Given the description of an element on the screen output the (x, y) to click on. 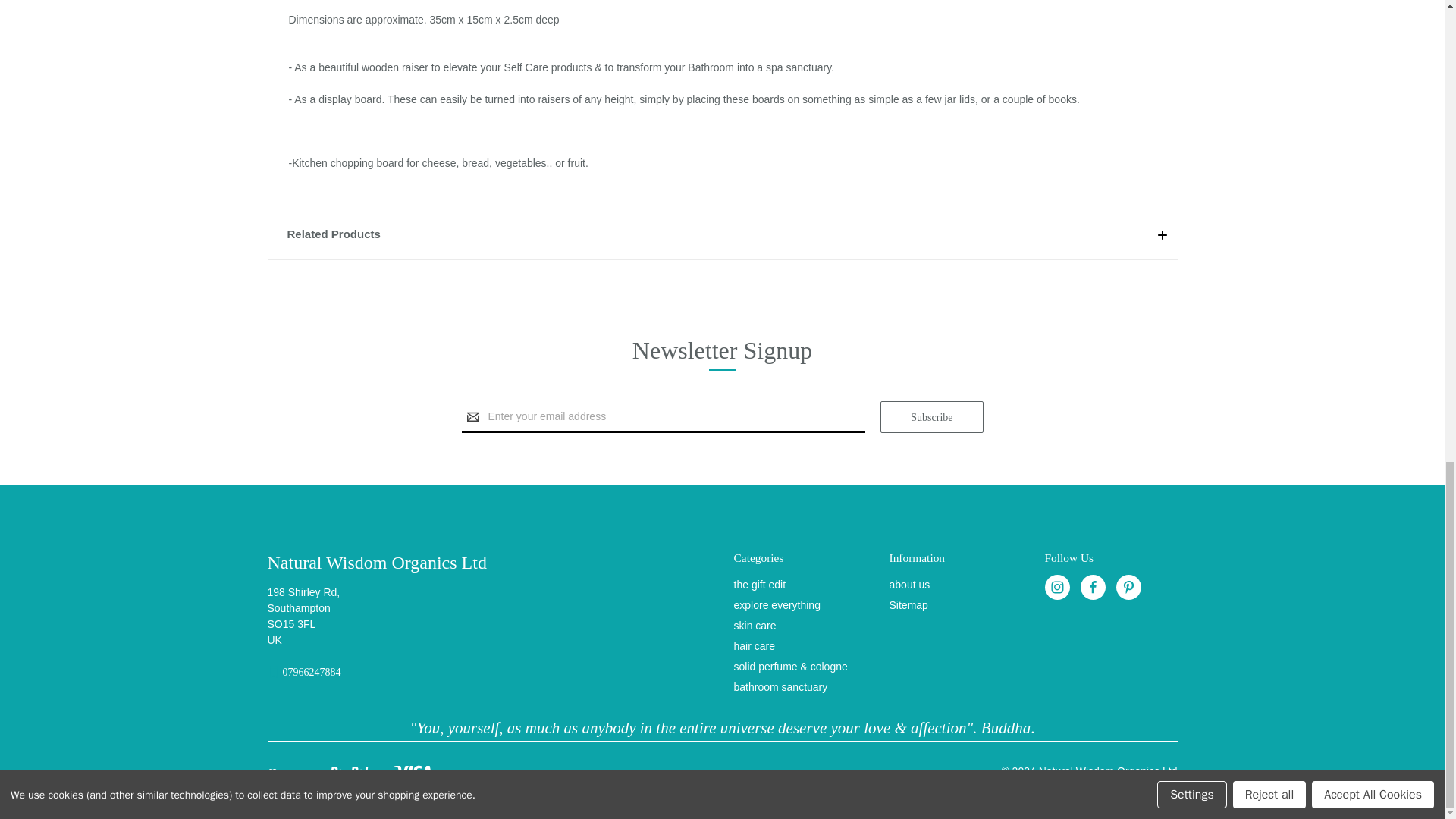
Subscribe (931, 417)
